Given the description of an element on the screen output the (x, y) to click on. 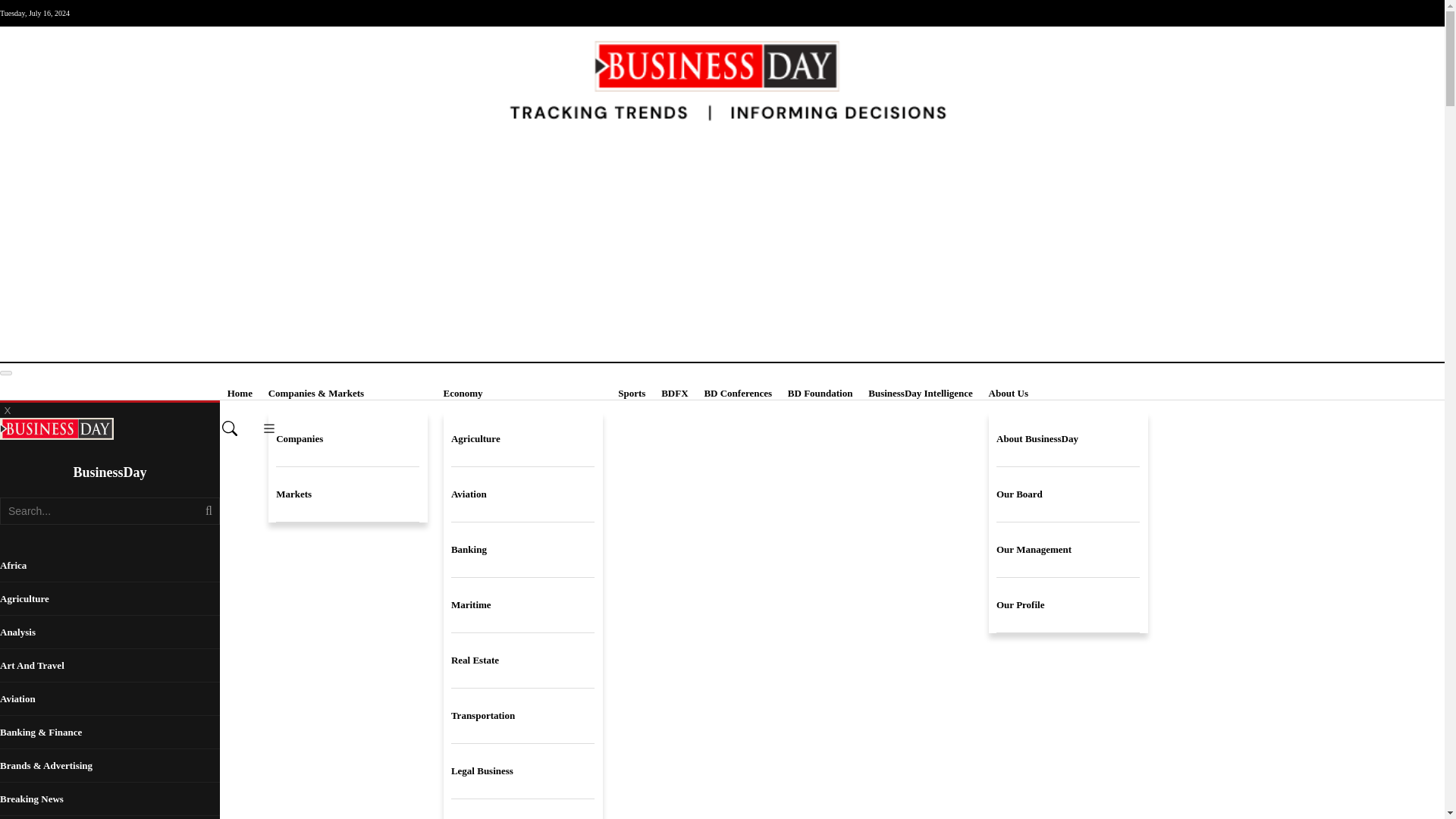
Research post (522, 809)
Agriculture (522, 438)
Transportation (522, 715)
Aviation (109, 698)
Banking (522, 550)
Transportation (522, 715)
Companies (347, 438)
Companies (347, 438)
Legal Business (522, 771)
Our Profile (1067, 605)
Economy (523, 393)
Maritime (522, 605)
Banking (522, 550)
Real Estate (522, 660)
Research post (522, 809)
